Given the description of an element on the screen output the (x, y) to click on. 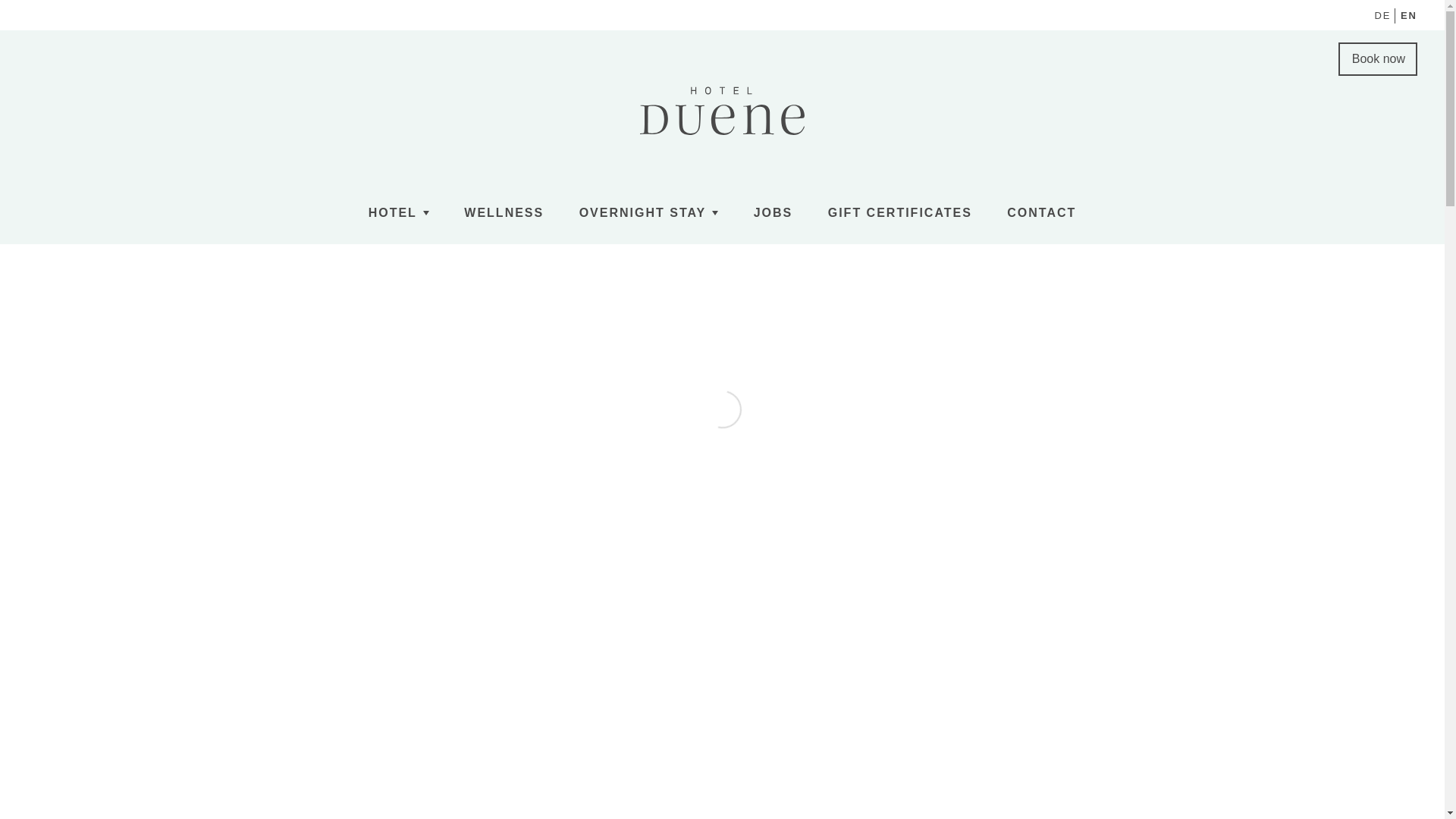
WELLNESS (503, 212)
EN (1408, 15)
HOTEL (398, 212)
Book now (1377, 59)
JOBS (773, 212)
CONTACT (1041, 212)
GIFT CERTIFICATES (900, 212)
OVERNIGHT STAY (649, 212)
DE (1382, 15)
